Given the description of an element on the screen output the (x, y) to click on. 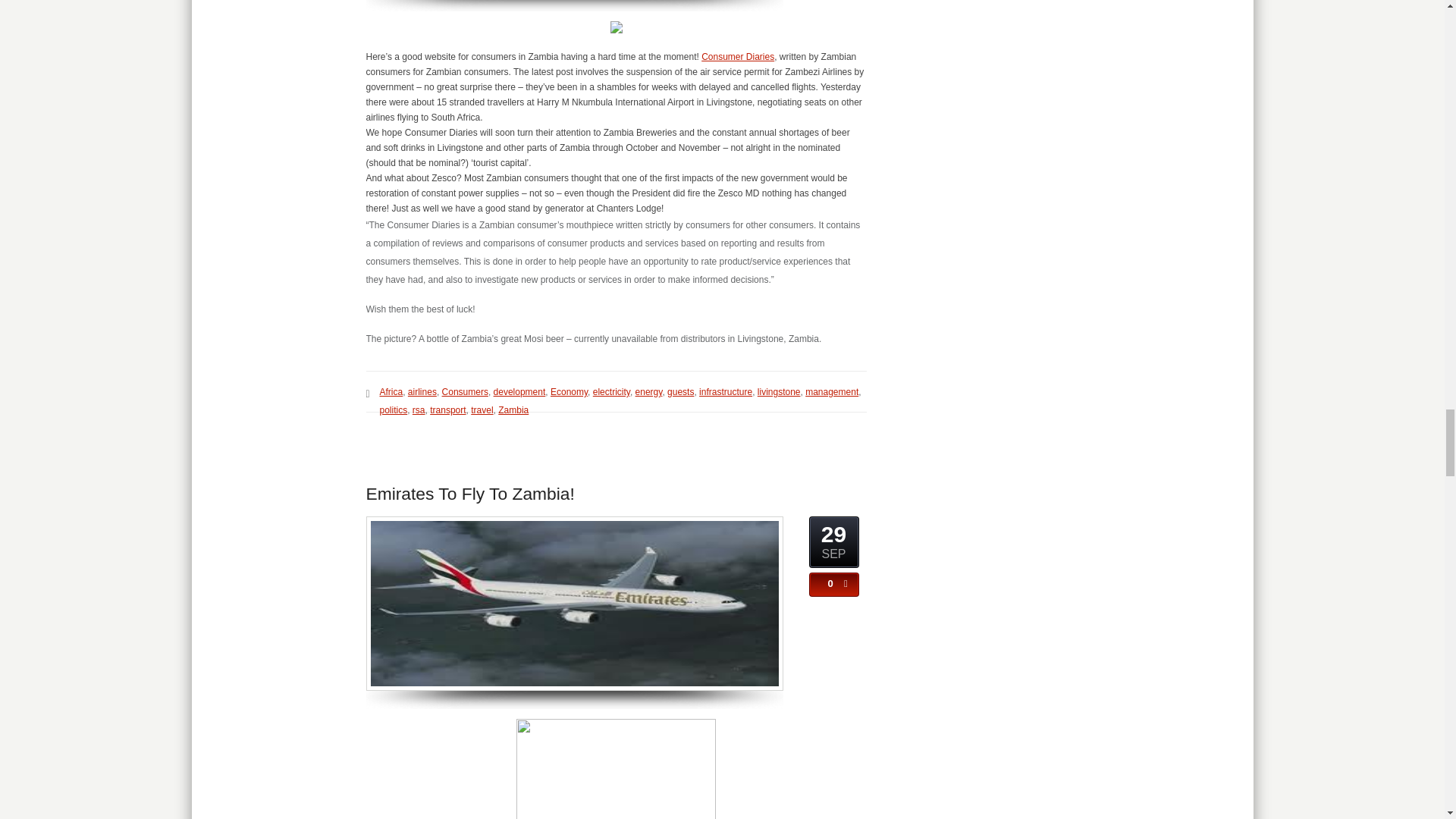
Emirates To Fly To Zambia! (469, 493)
